Given the description of an element on the screen output the (x, y) to click on. 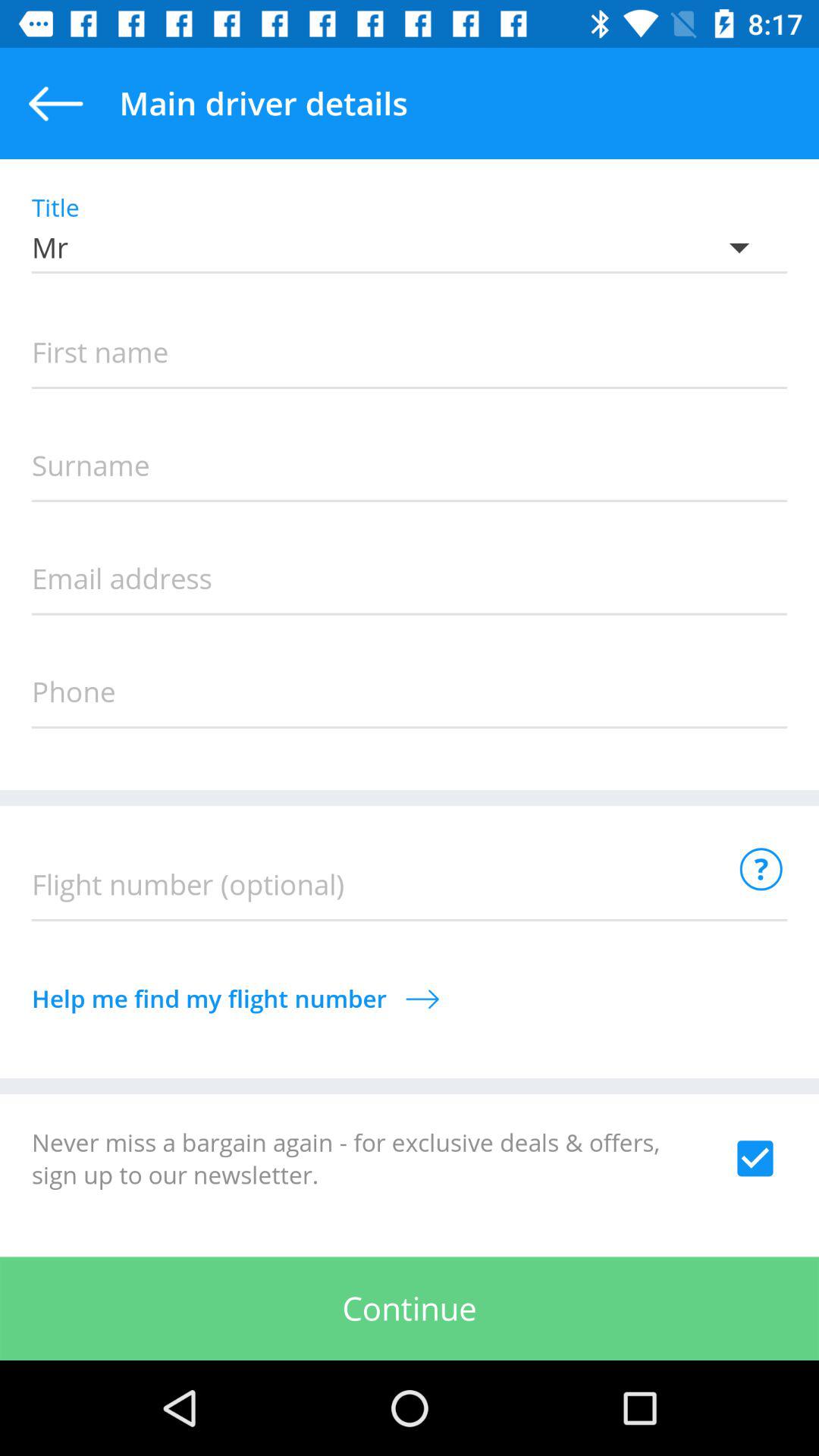
go to name box (409, 353)
